Given the description of an element on the screen output the (x, y) to click on. 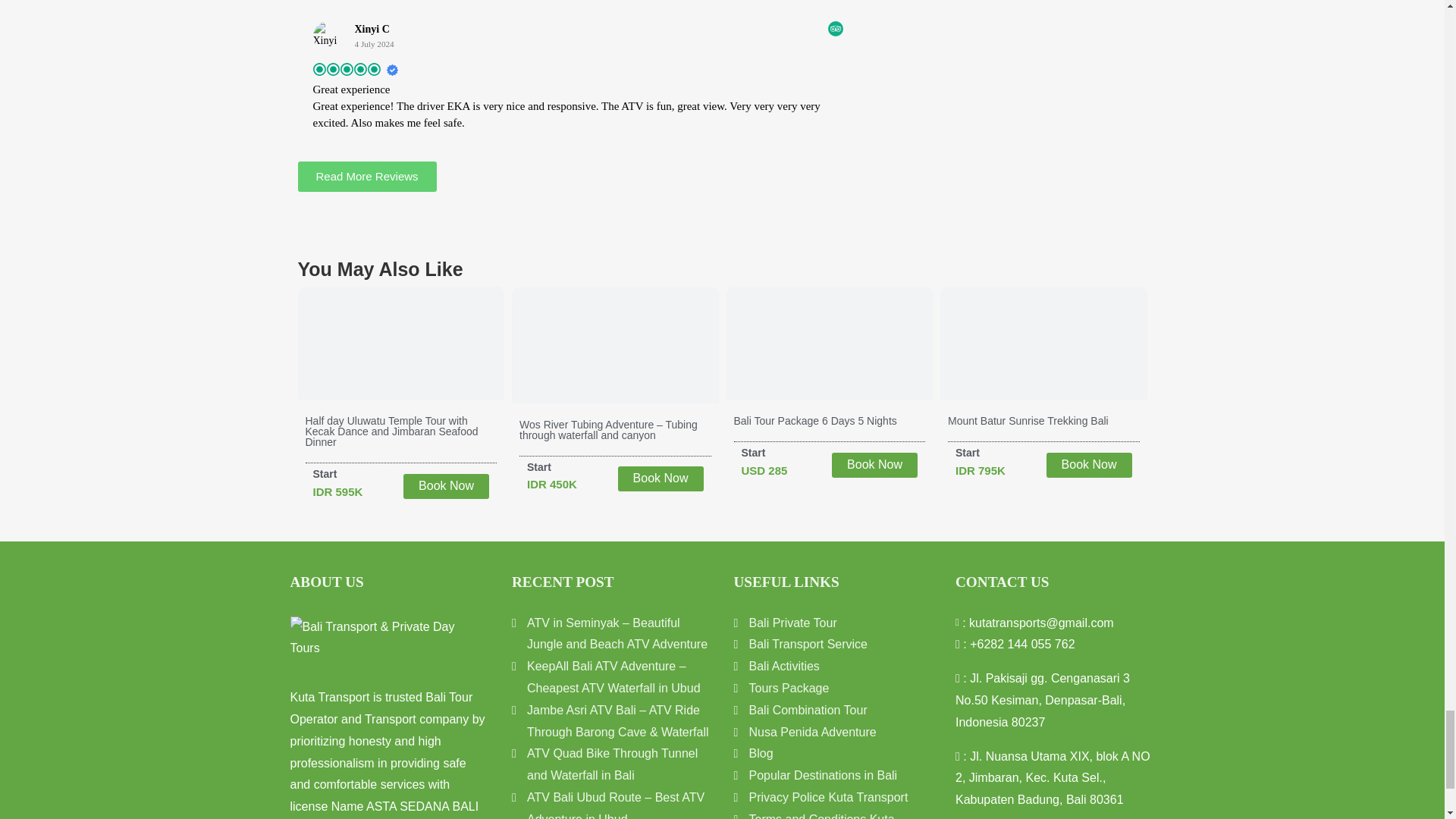
Read More Reviews (366, 176)
Bali Transport Service (808, 644)
Bali Private Tour (793, 622)
Tours Package (789, 688)
Book Now (1089, 464)
Book Now (660, 478)
Bali Tour Package 6 Days 5 Nights (814, 420)
Bali Activities (784, 666)
Book Now (874, 464)
